Given the description of an element on the screen output the (x, y) to click on. 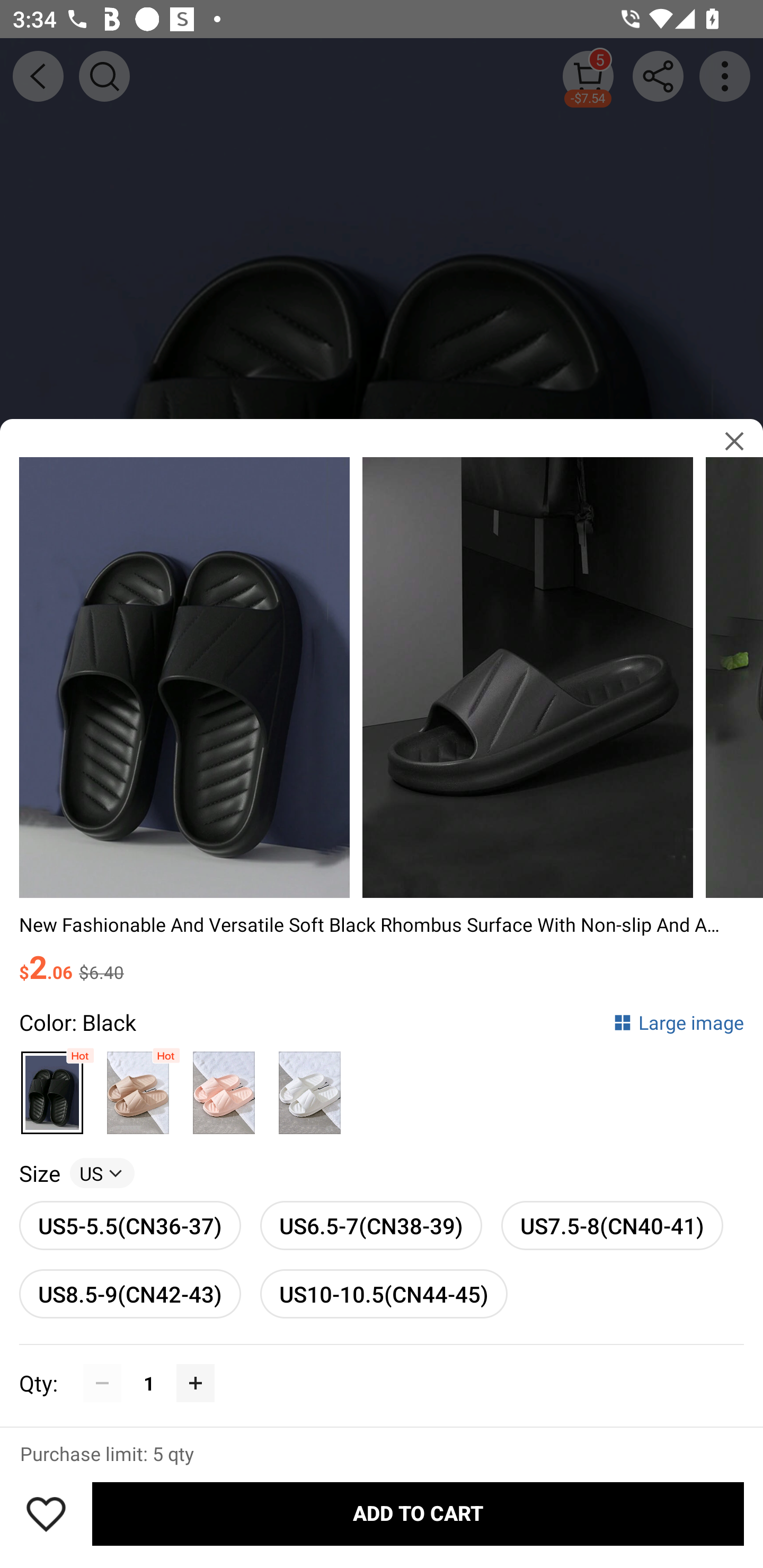
Color: Black (77, 1021)
Large image (677, 1021)
Black (52, 1087)
Brown (138, 1087)
Pink (224, 1087)
White (309, 1087)
Size (39, 1173)
US (102, 1173)
US5-5.5(CN36-37) US5-5.5(CN36-37)unselected option (130, 1225)
US6.5-7(CN38-39) US6.5-7(CN38-39)unselected option (371, 1225)
US7.5-8(CN40-41) US7.5-8(CN40-41)unselected option (612, 1225)
US8.5-9(CN42-43) US8.5-9(CN42-43)unselected option (130, 1293)
ADD TO CART (417, 1513)
Save (46, 1513)
